Given the description of an element on the screen output the (x, y) to click on. 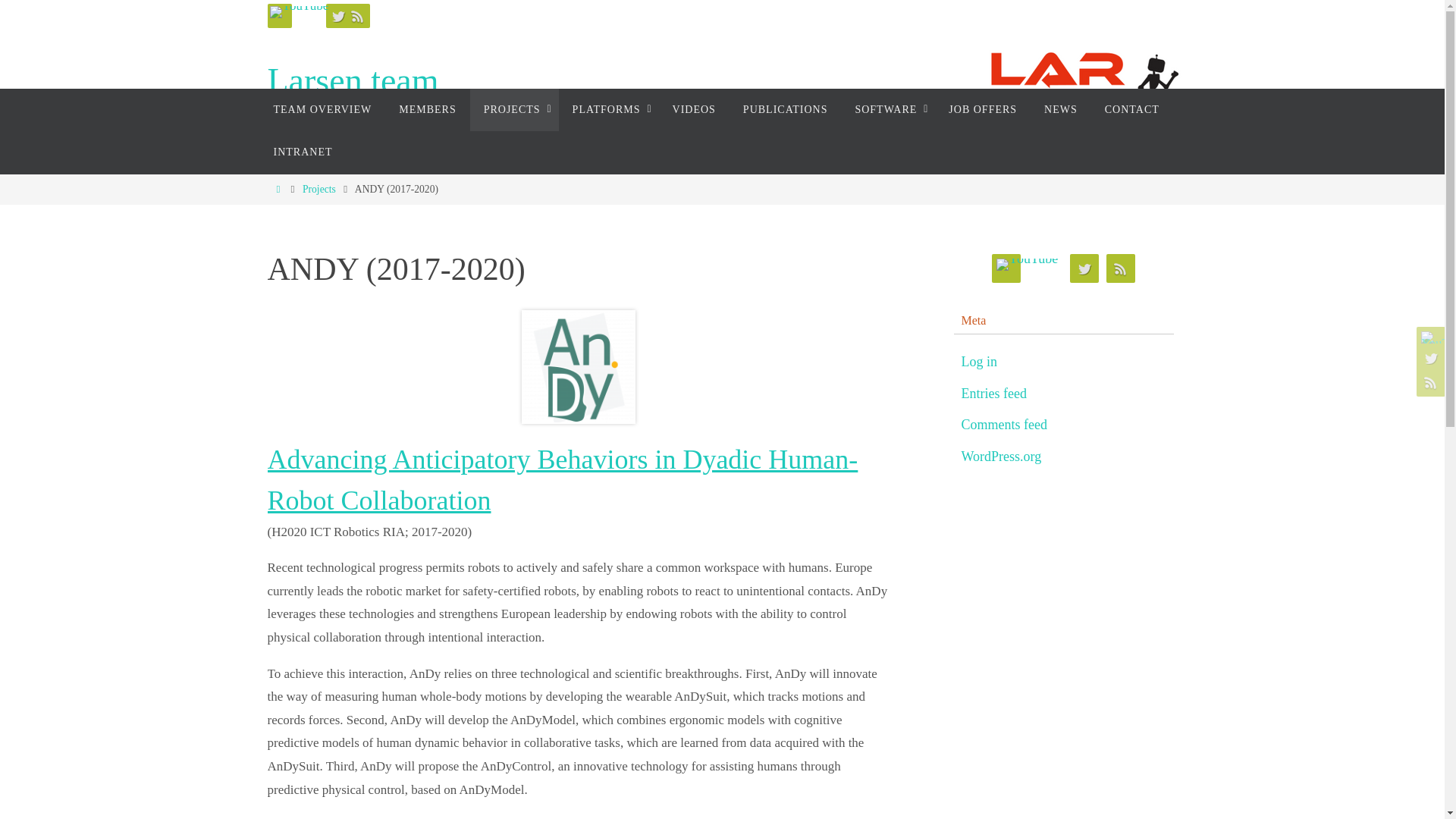
NEWS (1060, 109)
Larsen team (722, 88)
JOB OFFERS (982, 109)
YouTube (298, 12)
Projects (319, 188)
Larsen team (352, 81)
MEMBERS (426, 109)
INTRANET (302, 152)
PROJECTS (514, 109)
PUBLICATIONS (785, 109)
